Given the description of an element on the screen output the (x, y) to click on. 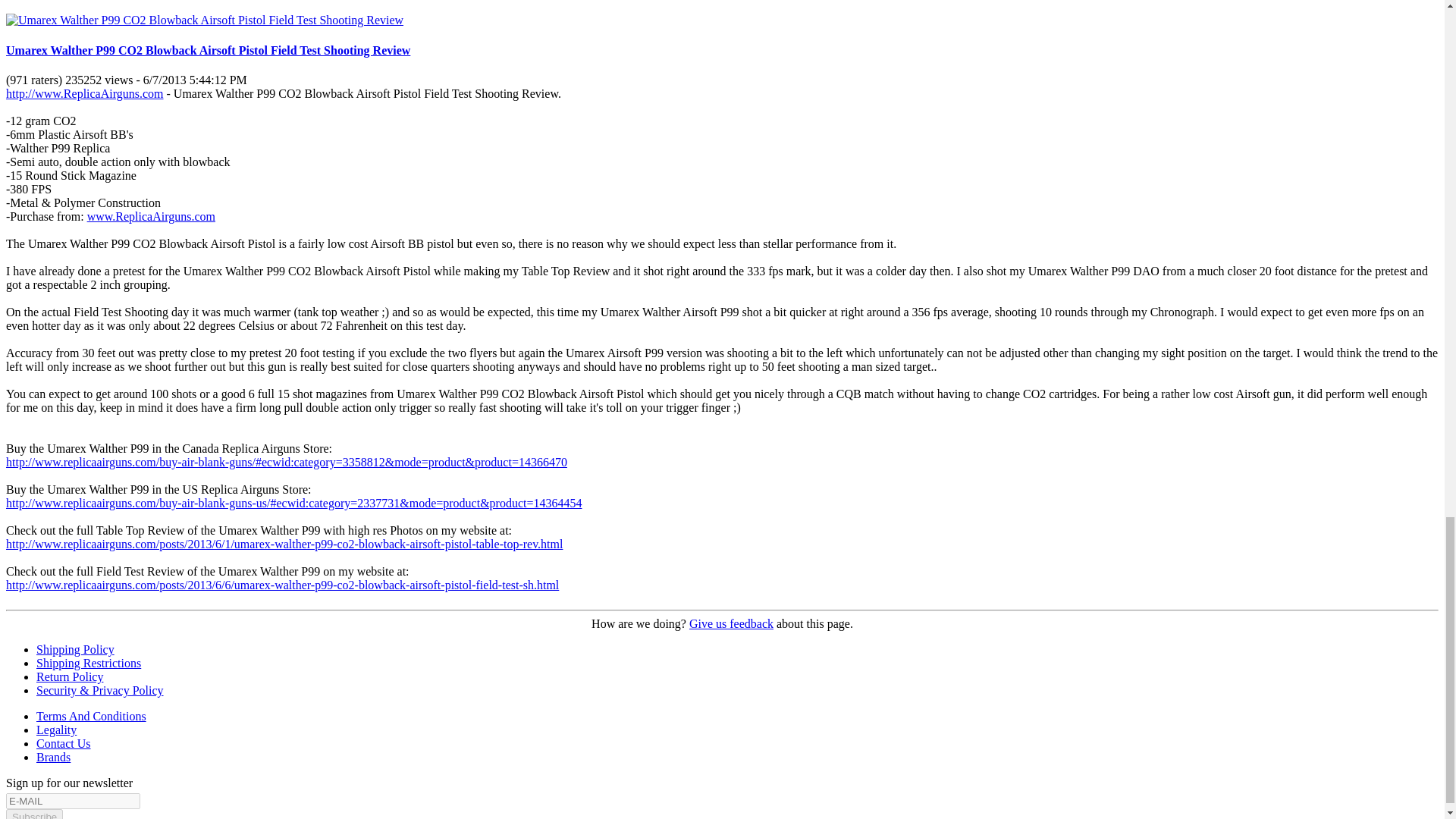
Click to open in a new window or tab (84, 92)
Click to open in a new window or tab (283, 543)
Click to open in a new window or tab (286, 461)
Average Rating 4.80 (35, 79)
Click to open in a new window or tab (151, 215)
Click to open in a new window or tab (292, 502)
Click to open in a new window or tab (282, 584)
